Given the description of an element on the screen output the (x, y) to click on. 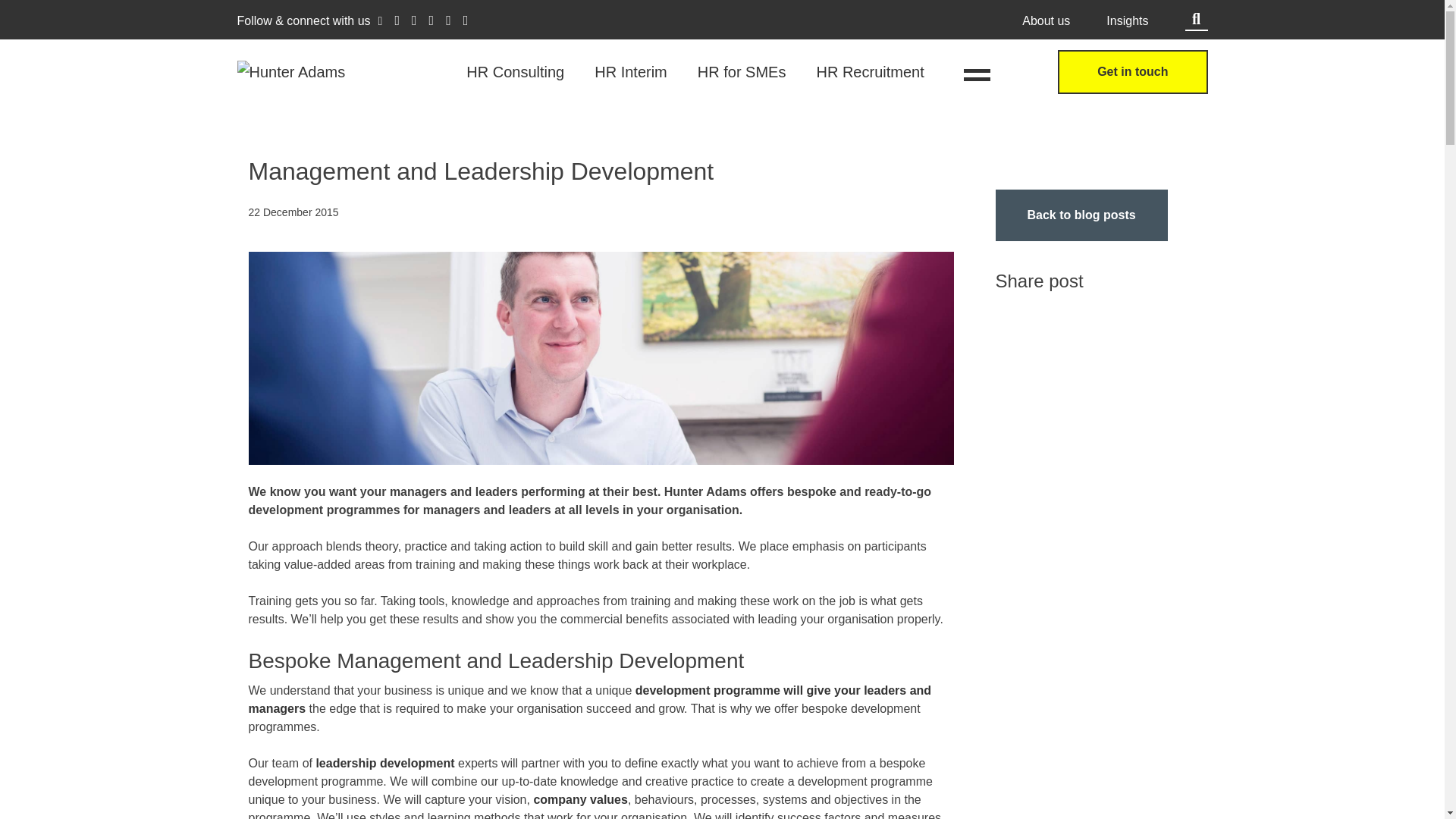
HR Recruitment (869, 71)
HR Consulting (514, 71)
HR Interim (630, 71)
HR for SMEs (741, 71)
Insights (1127, 21)
About us (1046, 21)
